Given the description of an element on the screen output the (x, y) to click on. 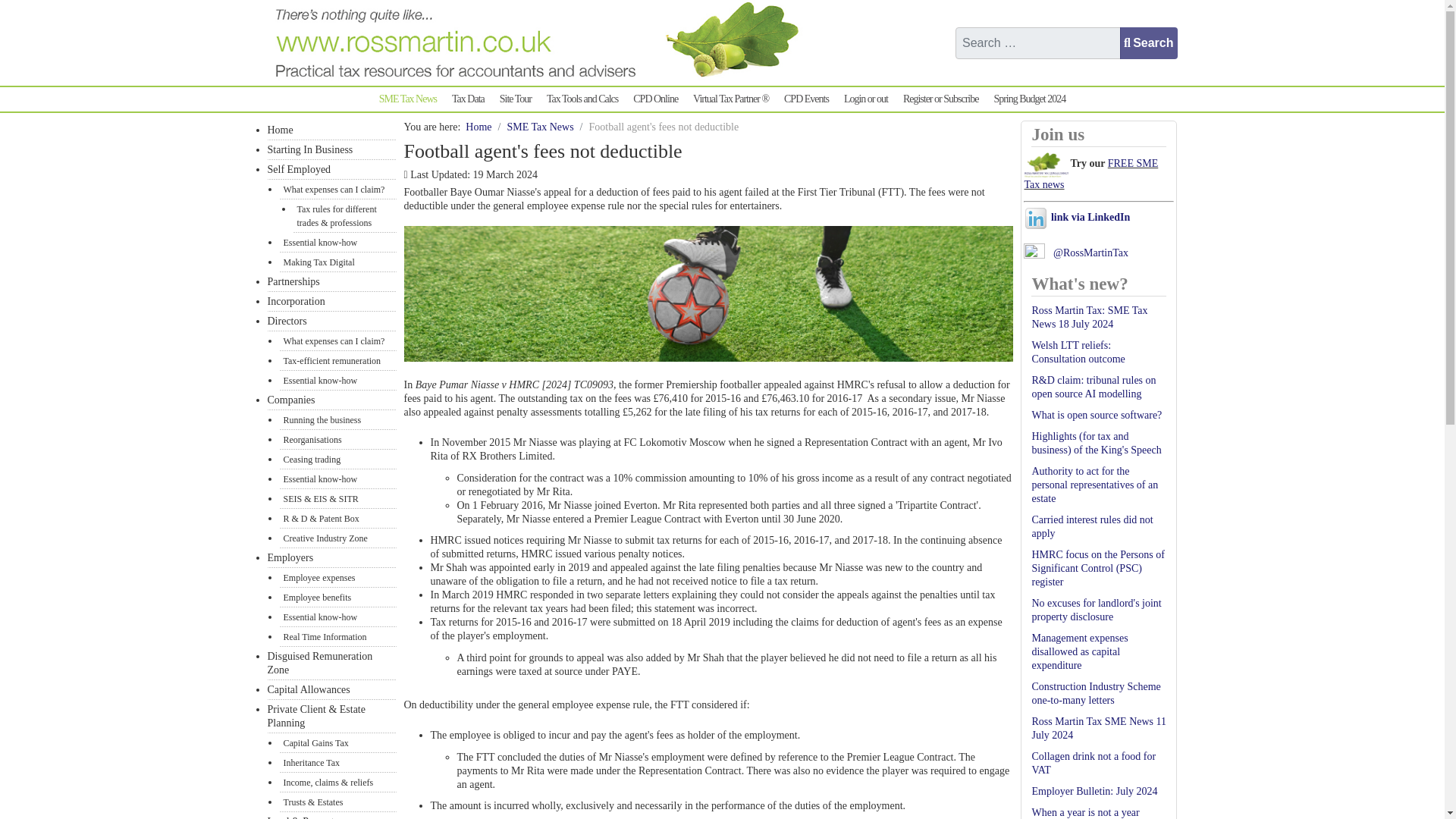
Search (1147, 42)
Partnerships (331, 281)
Essential know-how (337, 380)
Essential know-how (337, 242)
Creative Industry Zone (337, 537)
Essential know-how (337, 617)
Running the business (337, 419)
Incorporation (331, 301)
What expenses can I claim? (337, 341)
Companies (331, 400)
Login or out (865, 98)
Employee expenses (337, 578)
Starting In Business (331, 149)
SME Tax News (407, 98)
Ceasing trading (337, 459)
